Given the description of an element on the screen output the (x, y) to click on. 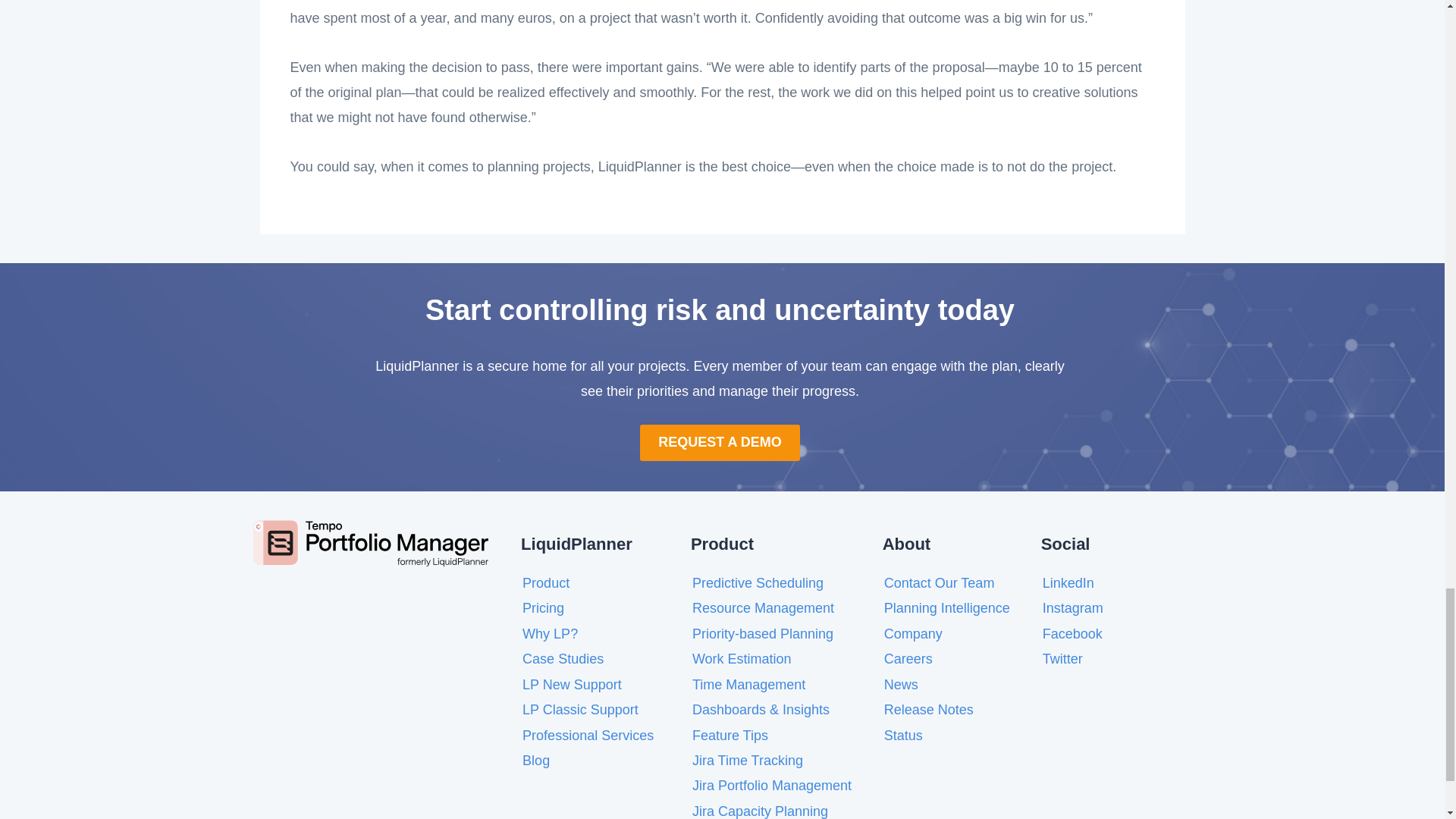
Time Management (749, 684)
Work Estimation (742, 658)
Feature Tips (730, 735)
REQUEST A DEMO (719, 442)
Professional Services (587, 735)
Product (545, 582)
Predictive Scheduling (758, 582)
Case Studies (563, 658)
Pricing (543, 607)
Resource Management (763, 607)
Jira Time Tracking (748, 760)
Jira Portfolio Management (772, 785)
Contact Our Team (938, 582)
Why LP? (550, 633)
LP New Support (571, 684)
